Given the description of an element on the screen output the (x, y) to click on. 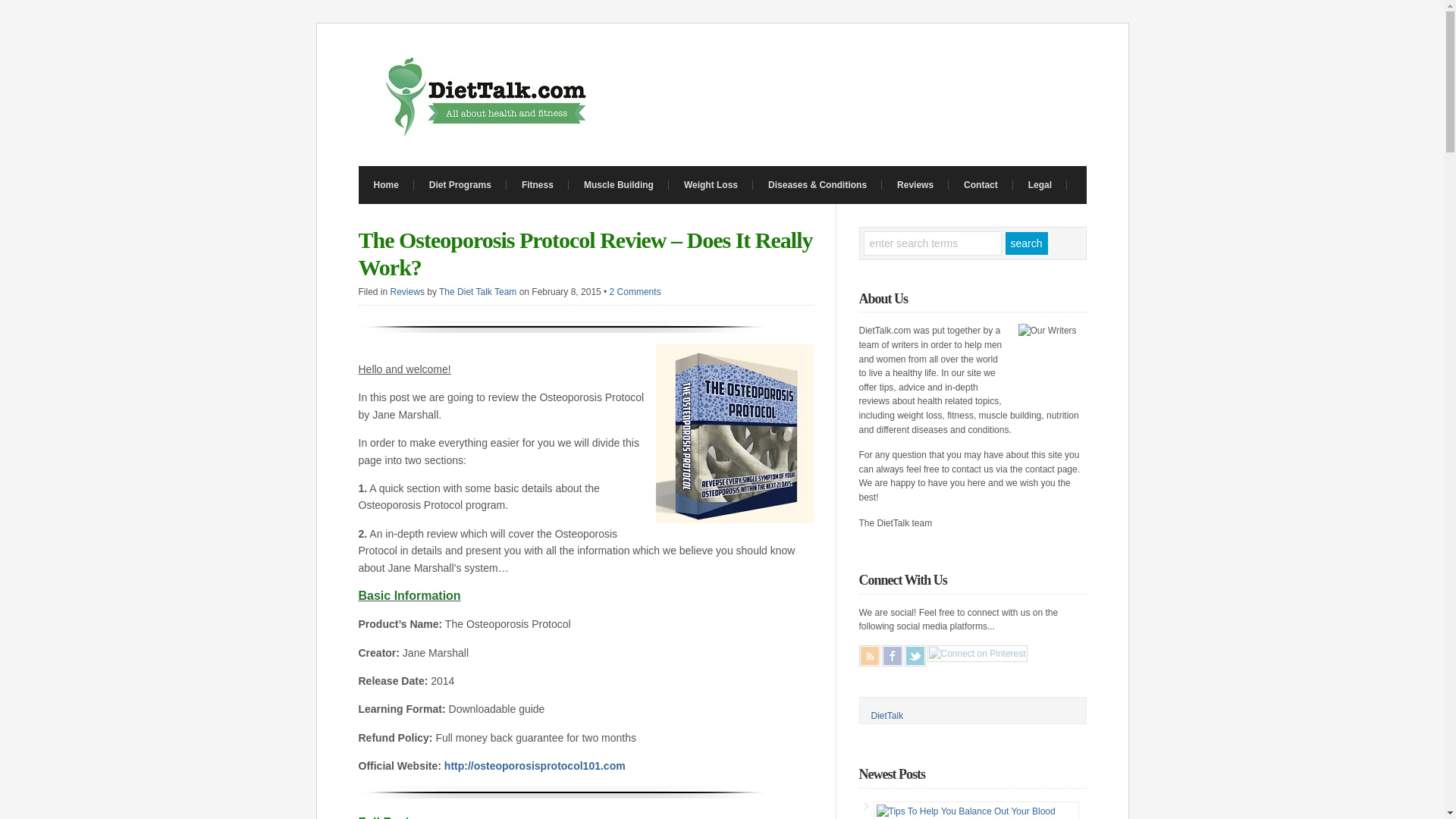
Legal (1040, 184)
DietTalk (886, 715)
Home (385, 184)
Connect on Facebook (891, 655)
Diet Programs (459, 184)
The Diet Talk Team (477, 291)
search (1027, 242)
Posts by The Diet Talk Team (477, 291)
2 Comments (635, 291)
Subscribe via RSS Feed (869, 655)
